Given the description of an element on the screen output the (x, y) to click on. 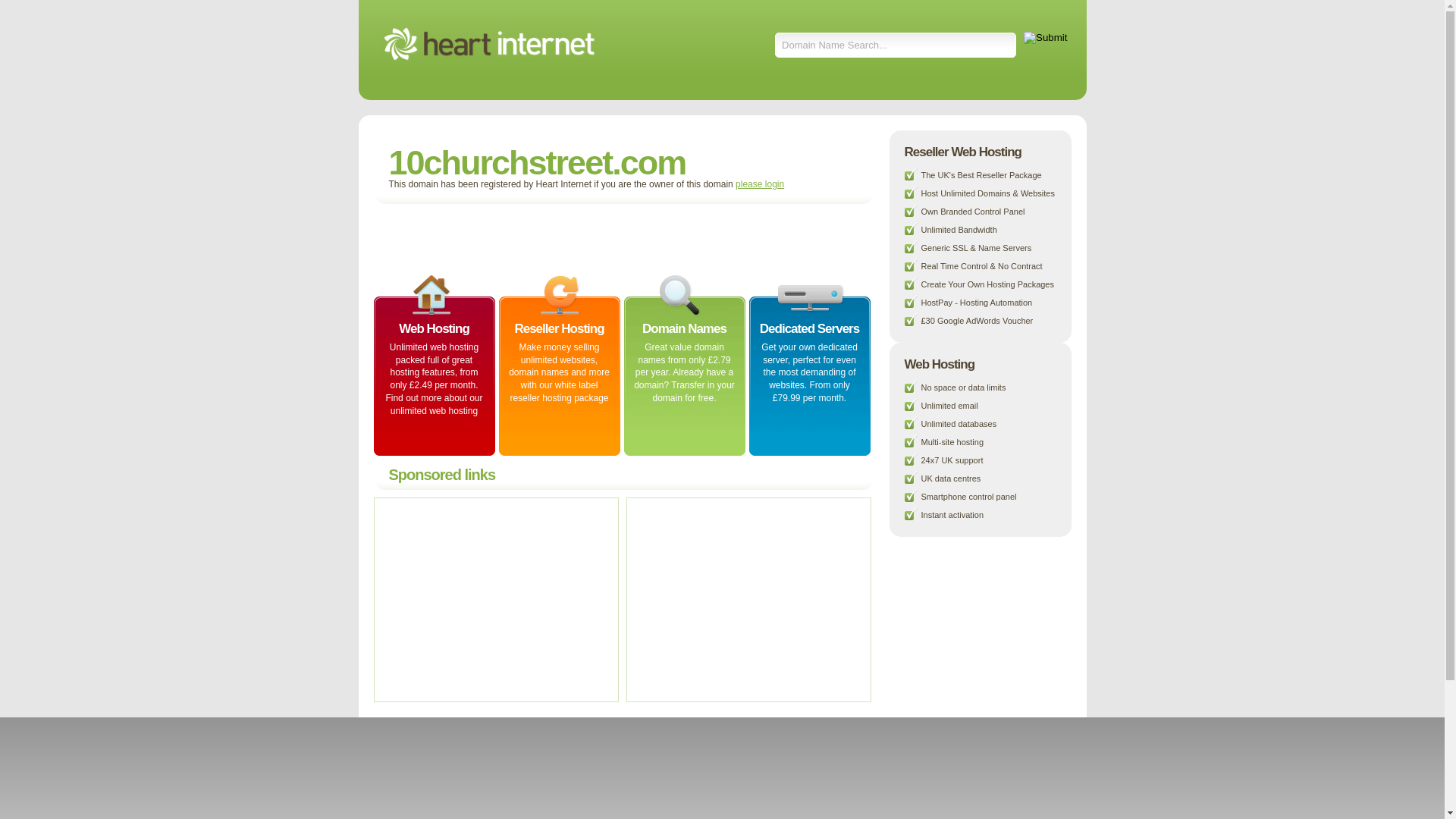
Domain Name Search... Element type: text (895, 44)
Advertisement Element type: hover (745, 598)
please login Element type: text (759, 183)
Advertisement Element type: hover (557, 237)
Advertisement Element type: hover (494, 598)
